Given the description of an element on the screen output the (x, y) to click on. 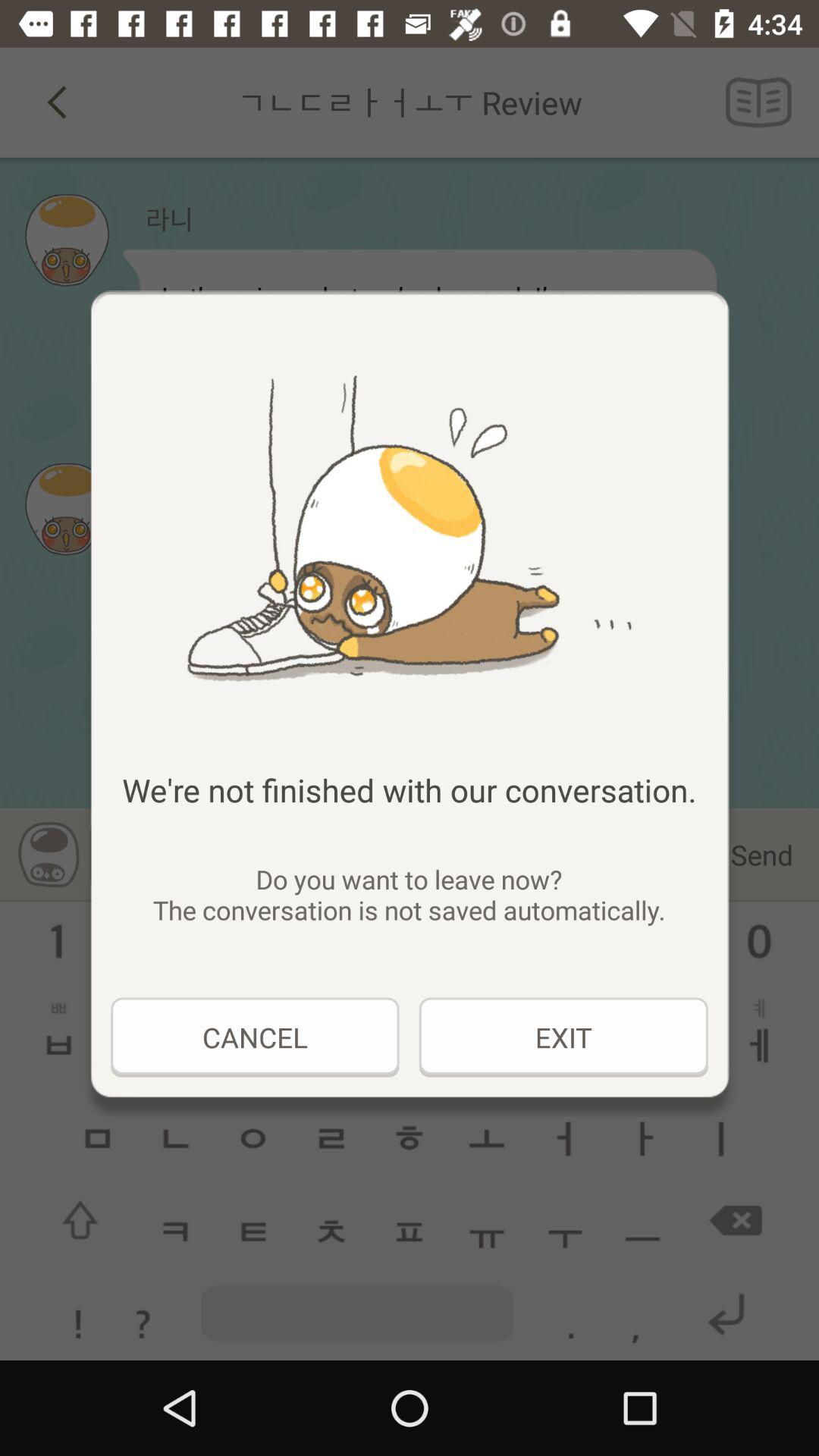
tap the item next to exit (254, 1037)
